Given the description of an element on the screen output the (x, y) to click on. 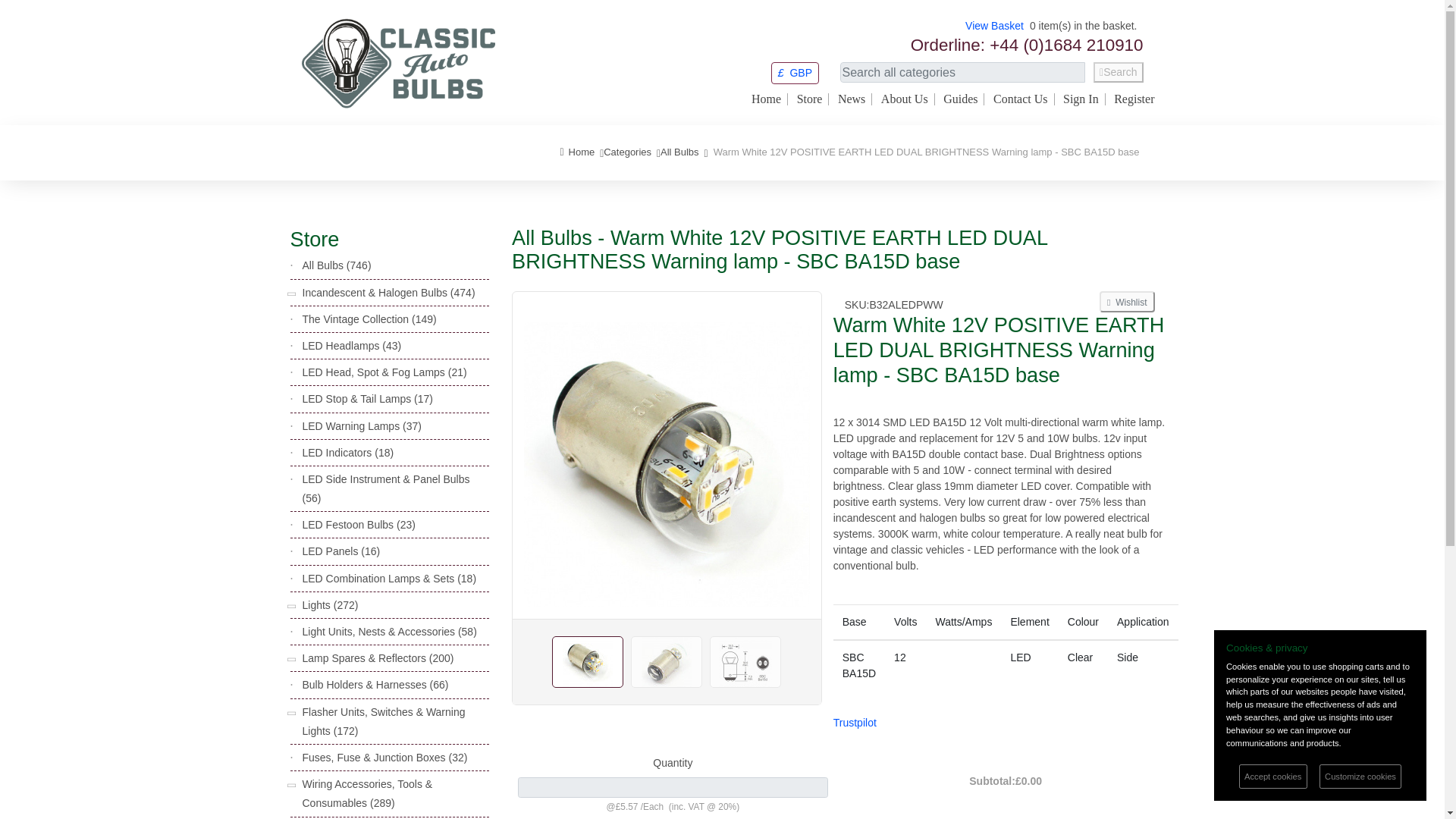
Select Currency (794, 72)
View Basket (994, 25)
All Bulbs - Bulbs (679, 152)
Bulbs (627, 152)
474 products in 7 subcategories (461, 292)
Search (1117, 72)
View Home (851, 99)
Home (765, 99)
Sign In (1080, 99)
View Guides (959, 99)
